Given the description of an element on the screen output the (x, y) to click on. 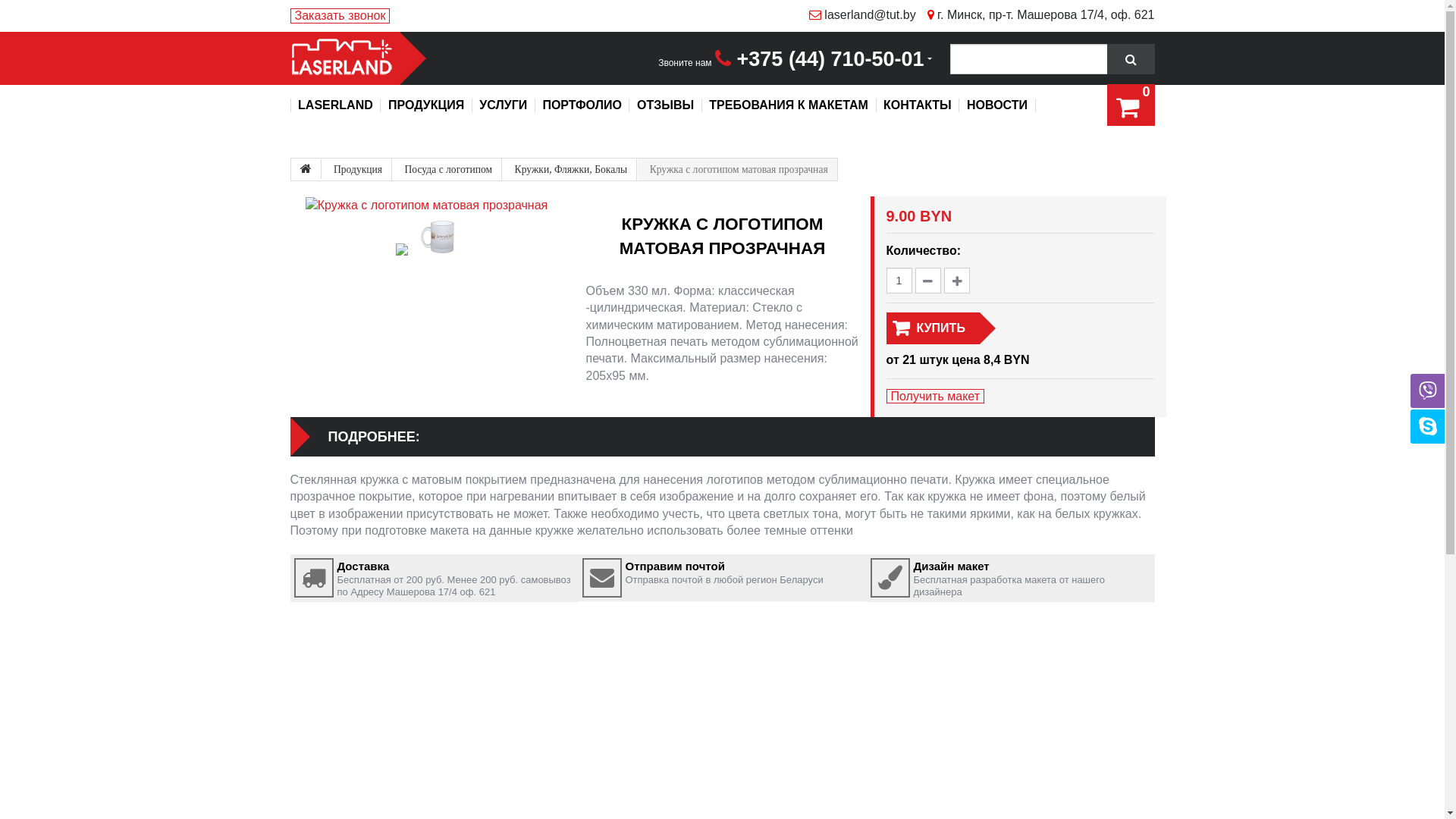
laserland@tut.by Element type: text (856, 14)
LASERLAND Element type: text (335, 105)
+375 (44) 710-50-01 Element type: text (823, 58)
